Given the description of an element on the screen output the (x, y) to click on. 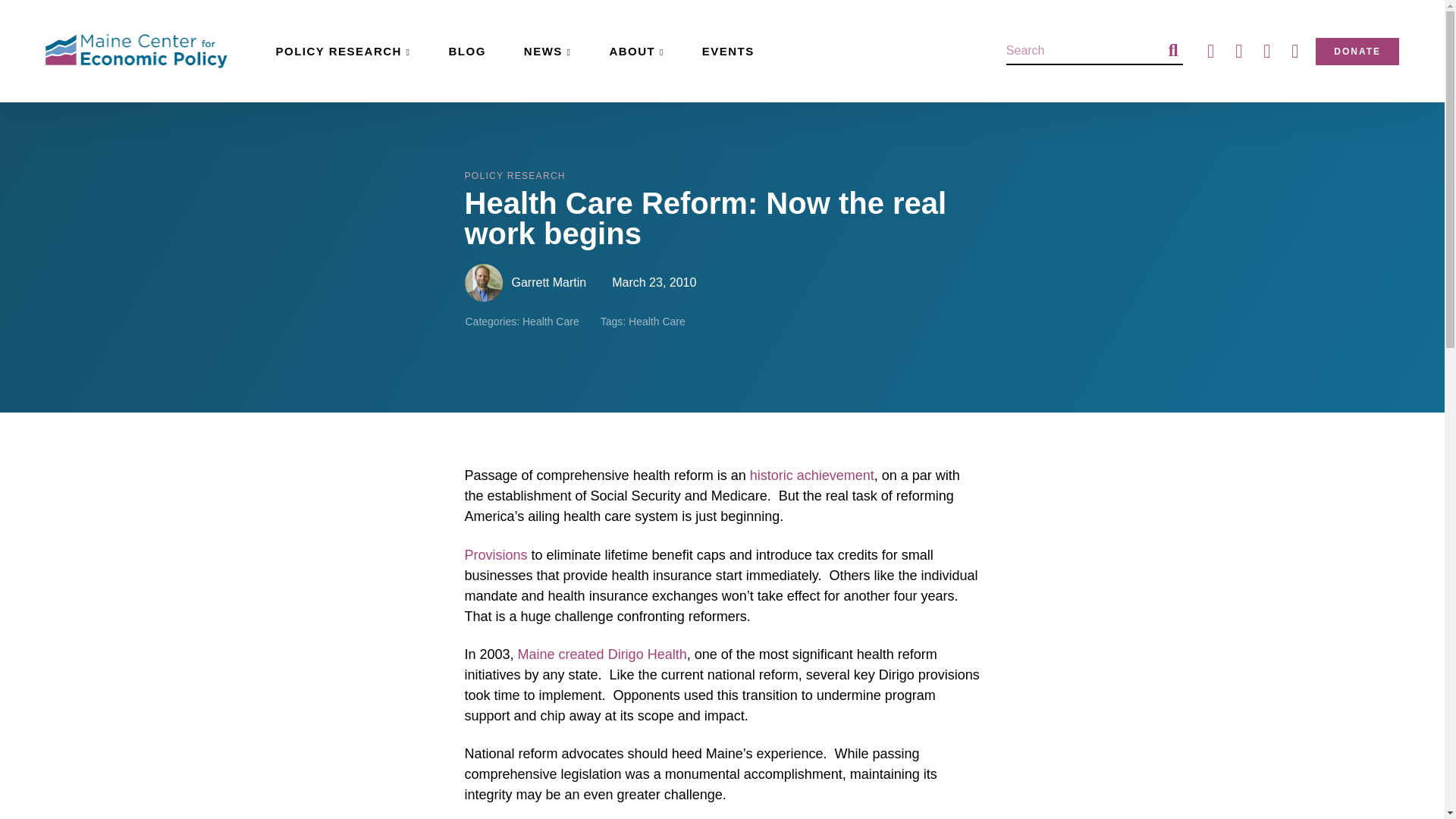
EVENTS (727, 51)
NEWS (548, 51)
DONATE (1357, 51)
National Health Reform Lessons from Maine (602, 654)
POLICY RESEARCH (342, 51)
BLOG (466, 51)
ABOUT (635, 51)
Kaiser Overview of Health Bills (495, 554)
MECEP Statement (812, 475)
